Given the description of an element on the screen output the (x, y) to click on. 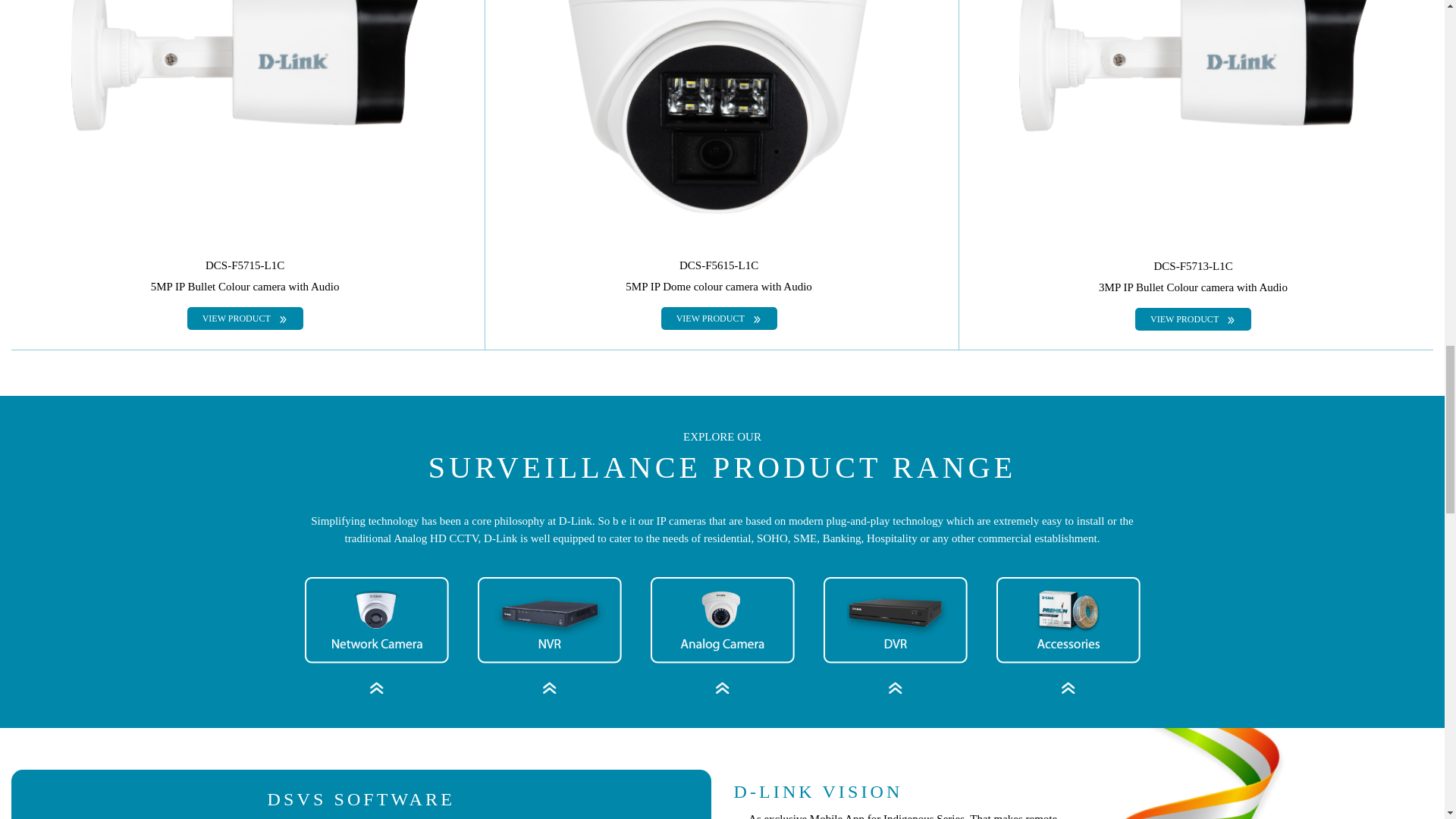
VIEW PRODUCT (1192, 318)
VIEW PRODUCT (719, 318)
